Given the description of an element on the screen output the (x, y) to click on. 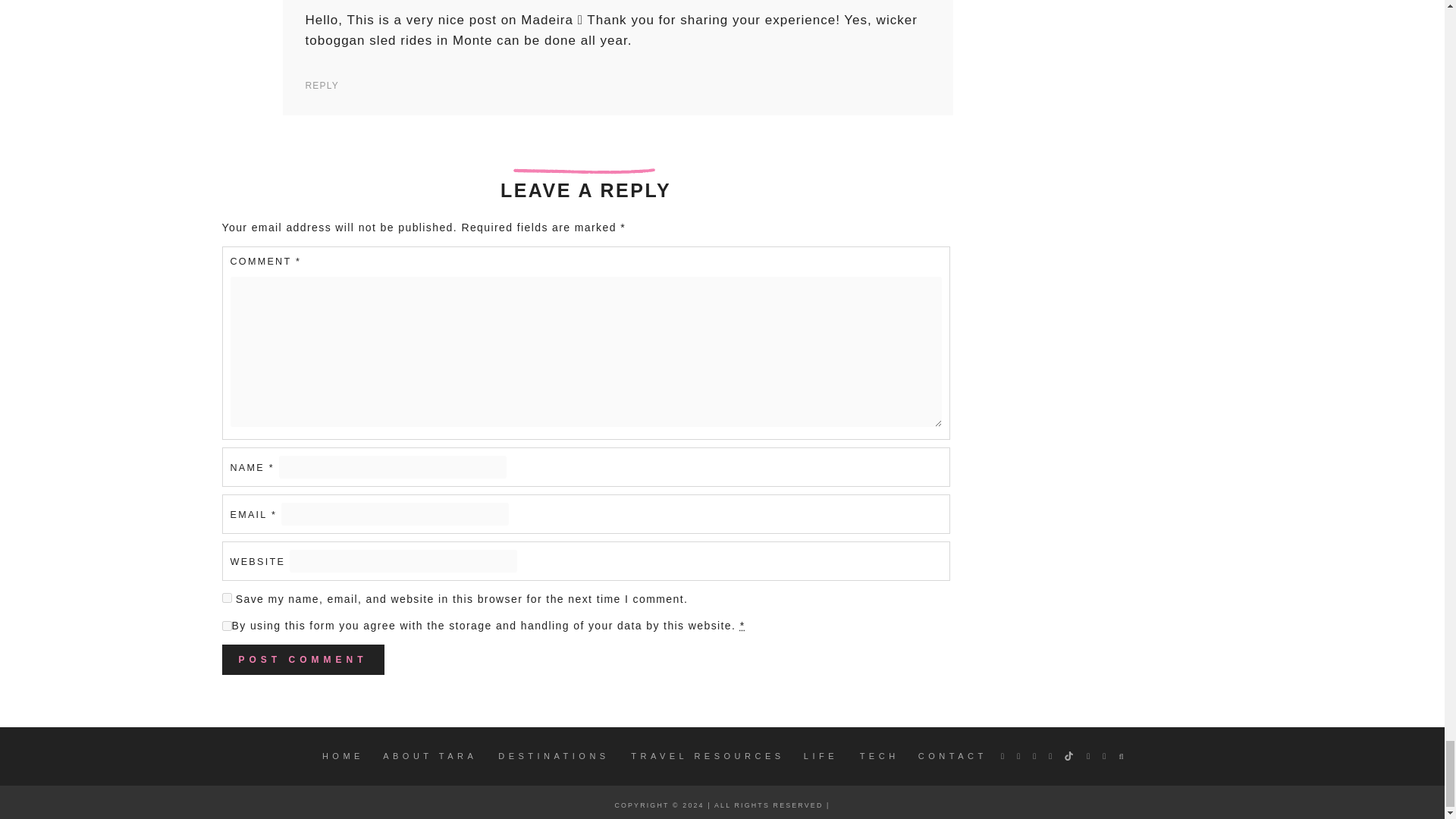
Post Comment (302, 659)
yes (226, 597)
